Given the description of an element on the screen output the (x, y) to click on. 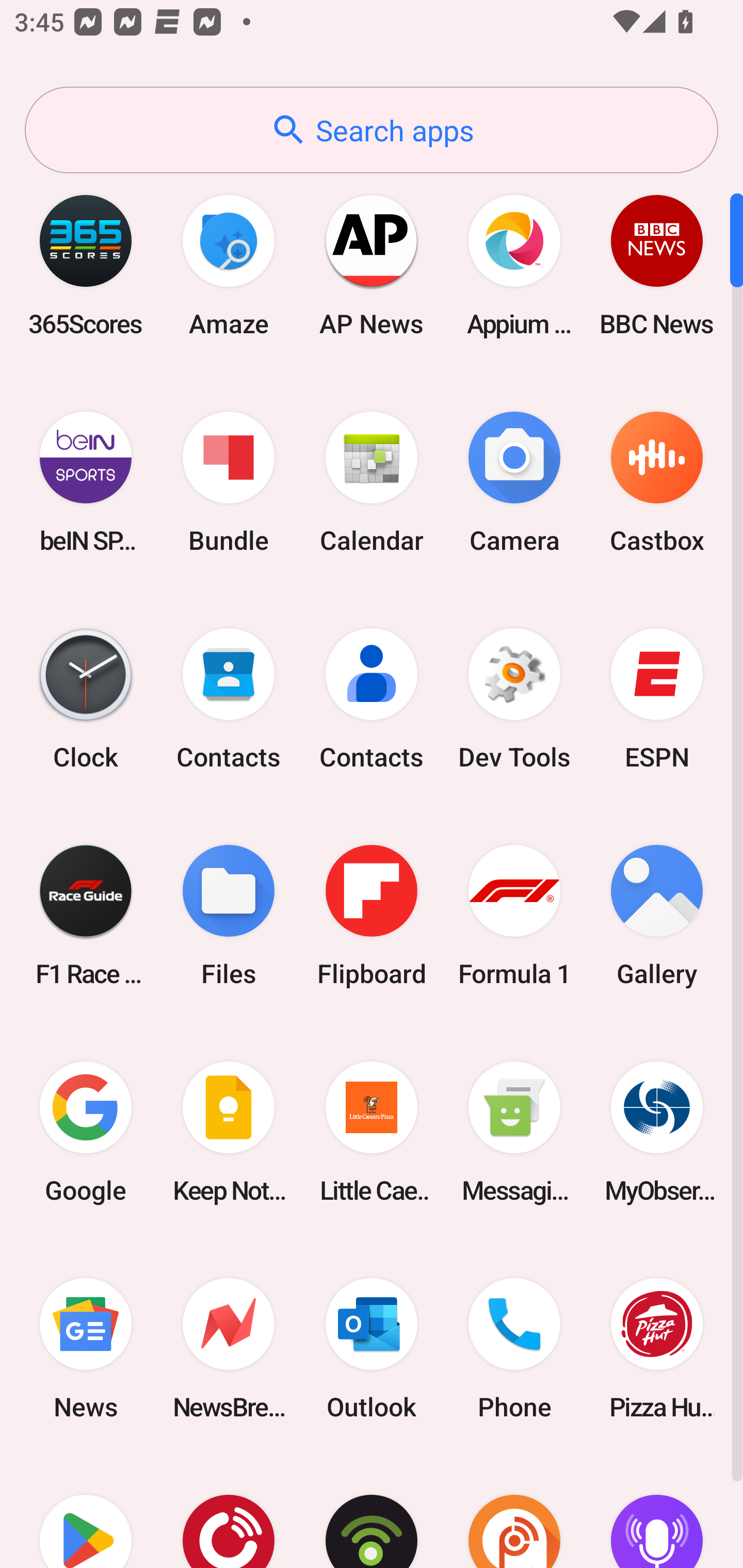
  Search apps (371, 130)
365Scores (85, 264)
Amaze (228, 264)
AP News (371, 264)
Appium Settings (514, 264)
BBC News (656, 264)
beIN SPORTS (85, 482)
Bundle (228, 482)
Calendar (371, 482)
Camera (514, 482)
Castbox (656, 482)
Clock (85, 699)
Contacts (228, 699)
Contacts (371, 699)
Dev Tools (514, 699)
ESPN (656, 699)
F1 Race Guide (85, 915)
Files (228, 915)
Flipboard (371, 915)
Formula 1 (514, 915)
Gallery (656, 915)
Google (85, 1131)
Keep Notes (228, 1131)
Little Caesars Pizza (371, 1131)
Messaging (514, 1131)
MyObservatory (656, 1131)
News (85, 1348)
NewsBreak (228, 1348)
Outlook (371, 1348)
Phone (514, 1348)
Pizza Hut HK & Macau (656, 1348)
Play Store (85, 1512)
Player FM (228, 1512)
Podbean (371, 1512)
Podcast Addict (514, 1512)
Podcast Player (656, 1512)
